Given the description of an element on the screen output the (x, y) to click on. 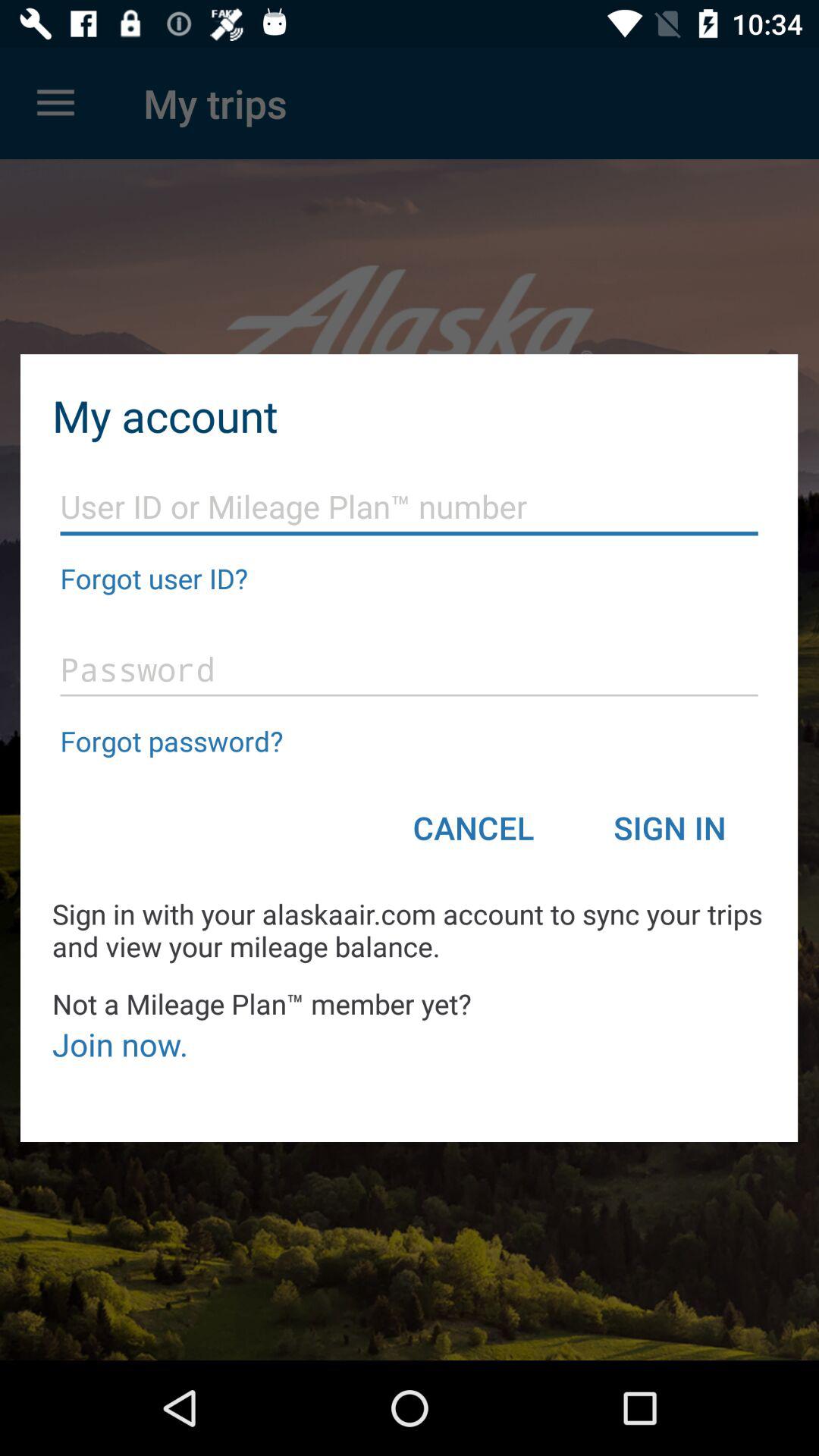
enter user id (409, 506)
